Given the description of an element on the screen output the (x, y) to click on. 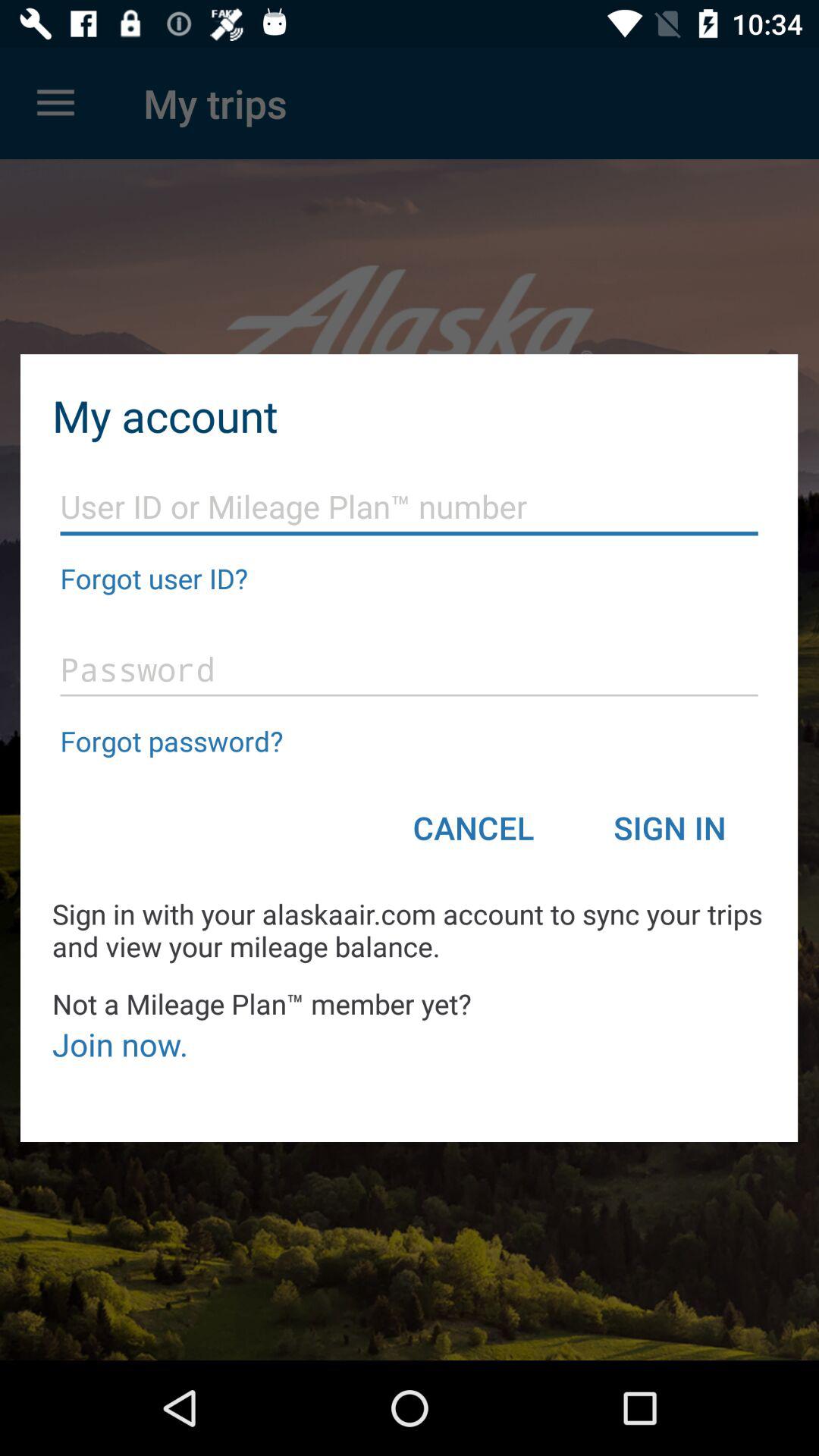
enter user id (409, 506)
